Given the description of an element on the screen output the (x, y) to click on. 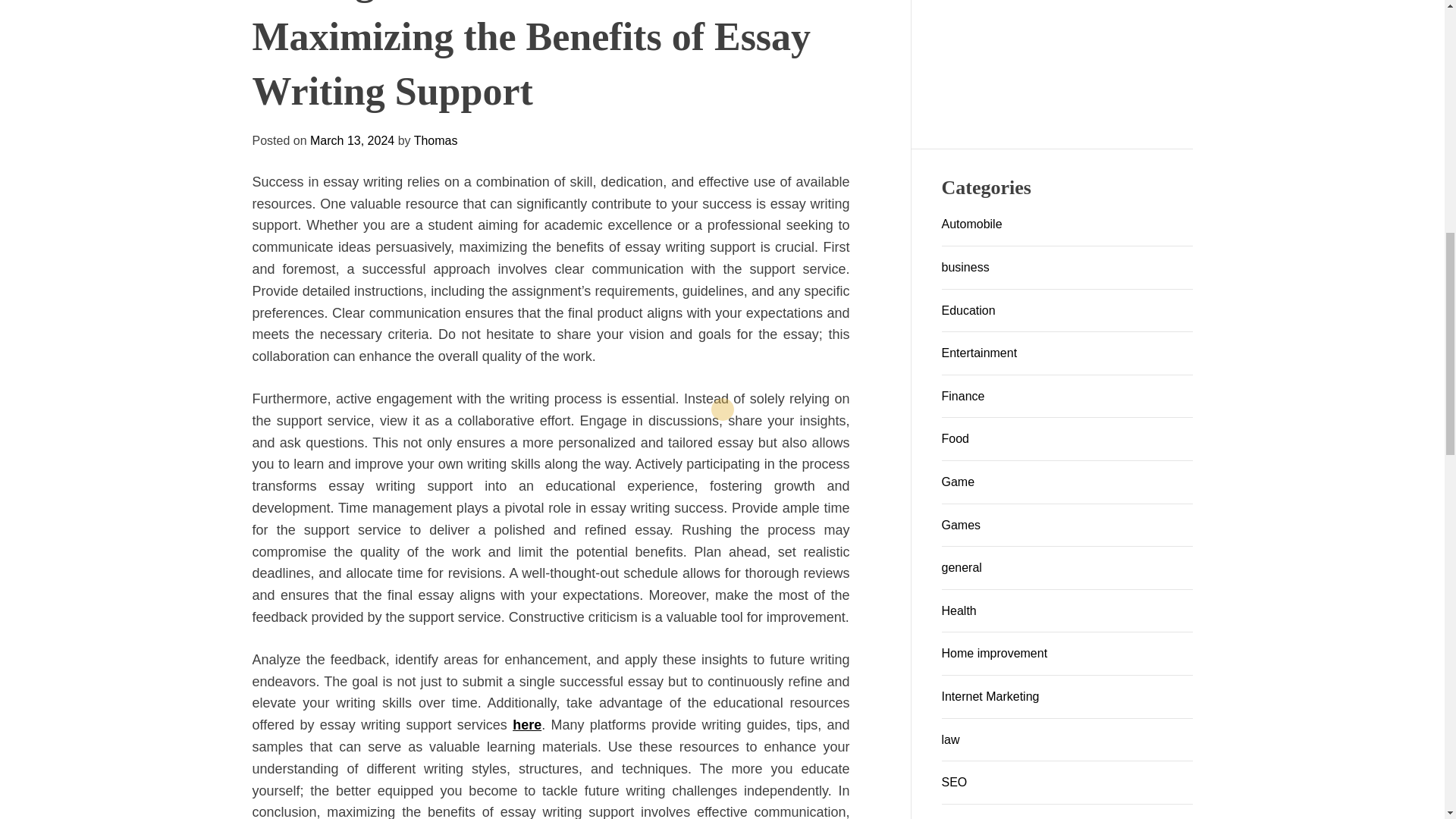
Food (955, 438)
Thomas (601, 584)
Entertainment (979, 352)
business (966, 267)
Thomas (601, 584)
Thomas (325, 573)
Education (968, 309)
Finance (963, 395)
here (526, 196)
Automobile (972, 223)
